Given the description of an element on the screen output the (x, y) to click on. 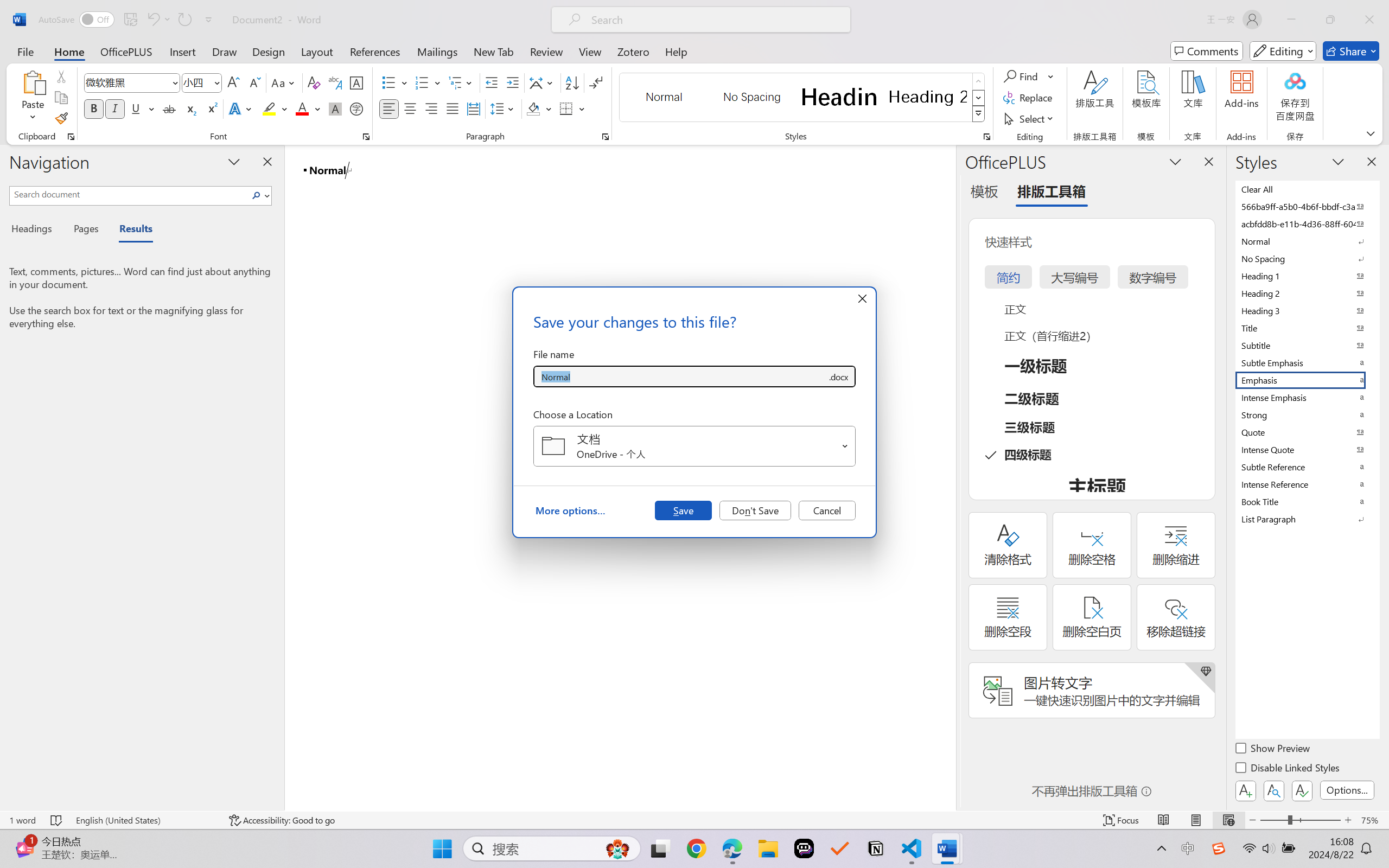
Quote (1306, 431)
Zoom (1300, 819)
Clear Formatting (313, 82)
Font (126, 82)
Help (675, 51)
Enclose Characters... (356, 108)
Office Clipboard... (70, 136)
Align Right (431, 108)
Quick Access Toolbar (127, 19)
Class: NetUIButton (1301, 790)
Clear All (1306, 188)
Draw (224, 51)
Paste (33, 81)
